Given the description of an element on the screen output the (x, y) to click on. 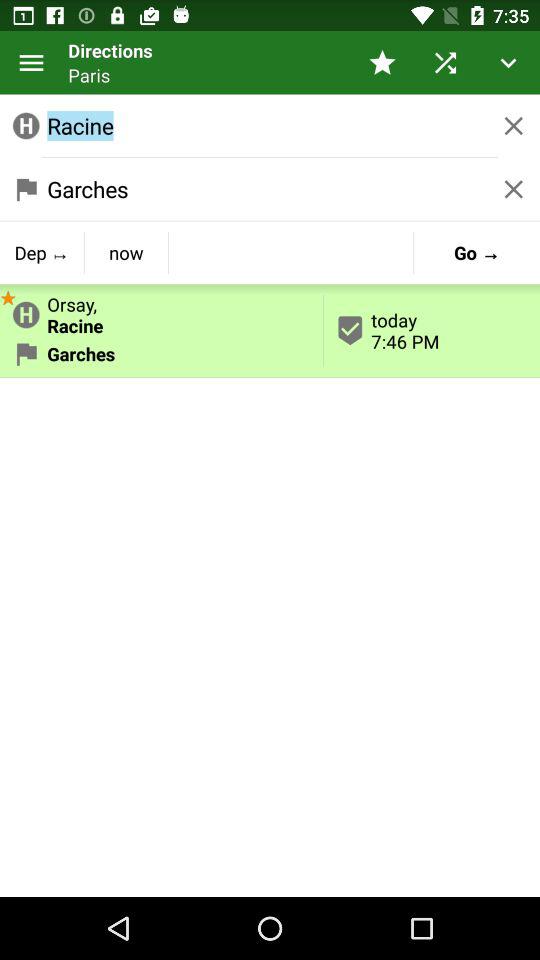
click app above garches icon (8, 296)
